Given the description of an element on the screen output the (x, y) to click on. 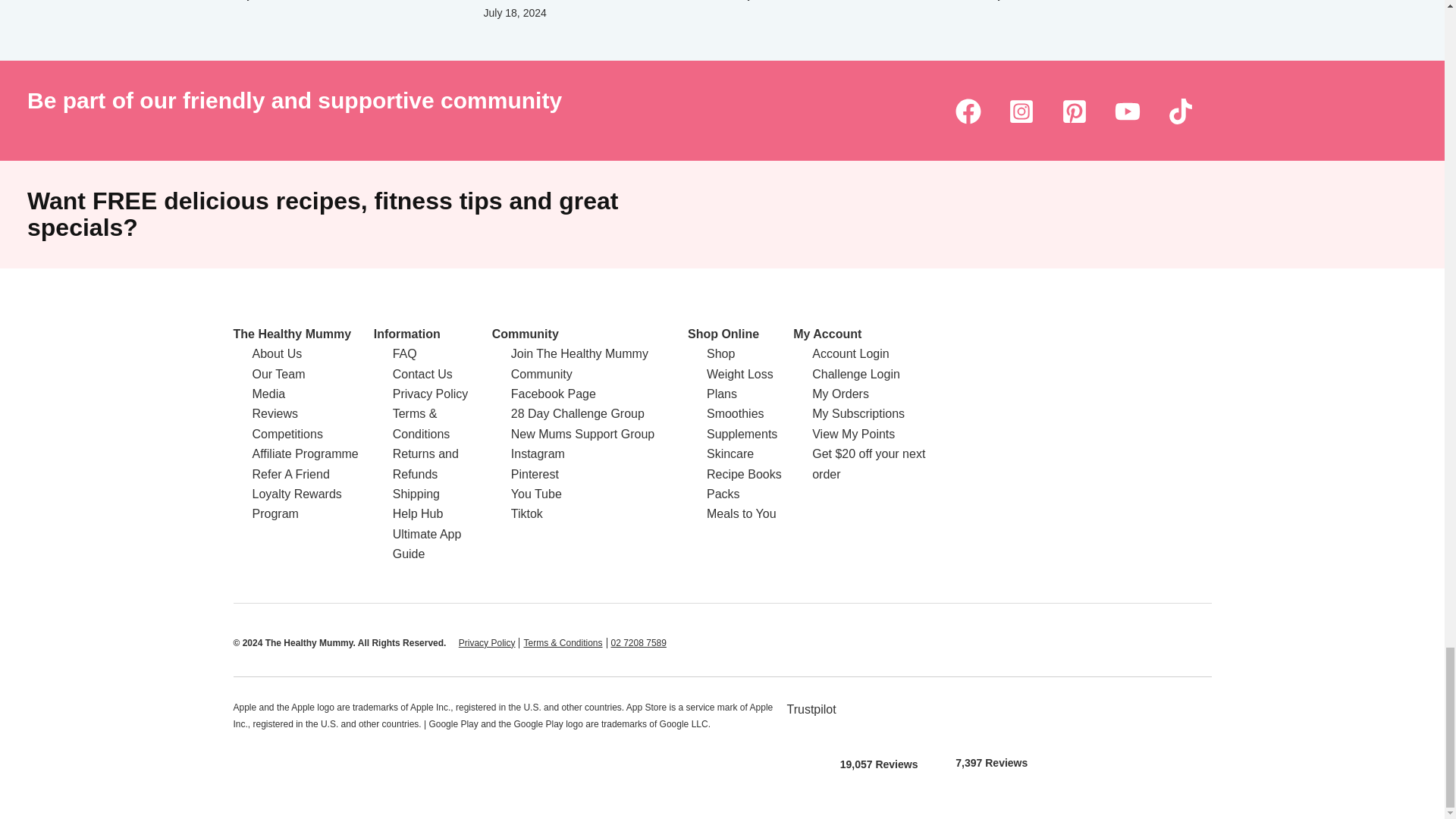
download on apple (879, 719)
Pinterest (1074, 111)
download on google play (991, 717)
You Tube (1127, 111)
TikTok (1180, 111)
Facebook (968, 111)
Instagram (1020, 111)
Join Our Affiliate Programme (304, 453)
Privacy Policy (486, 643)
The Healthy Mummy (292, 333)
